Given the description of an element on the screen output the (x, y) to click on. 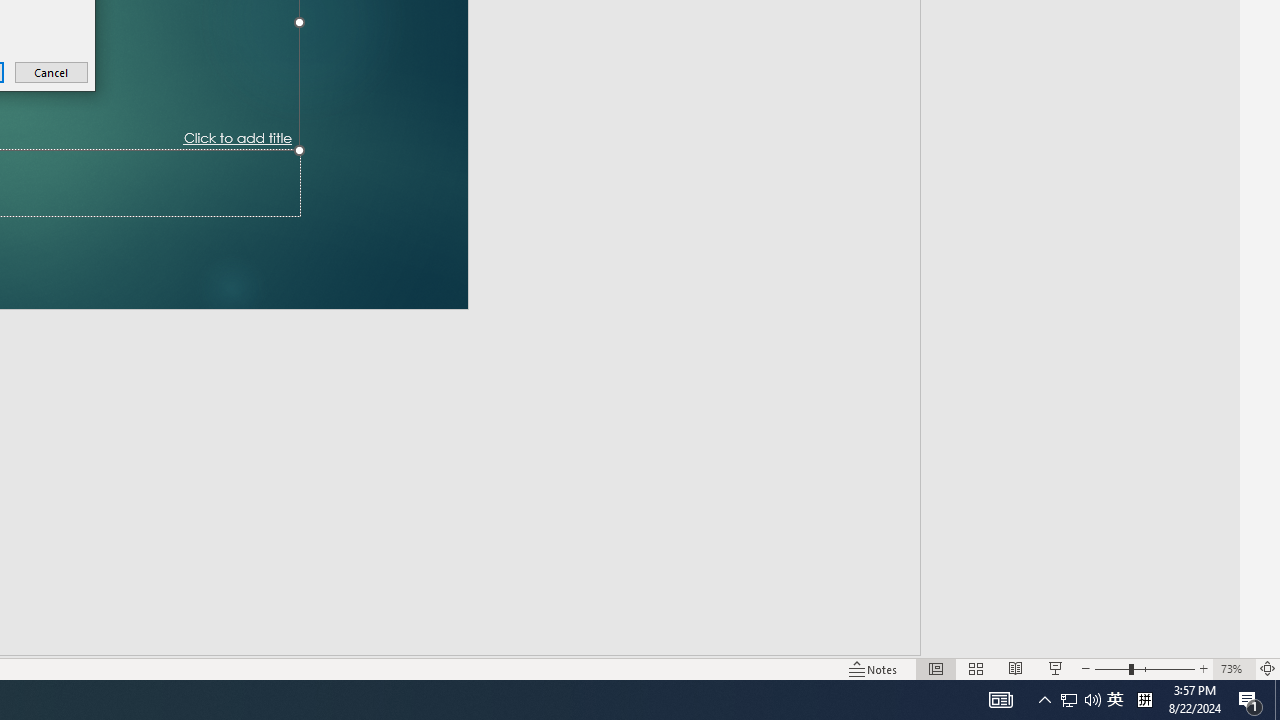
User Promoted Notification Area (1069, 699)
AutomationID: 4105 (1080, 699)
